Given the description of an element on the screen output the (x, y) to click on. 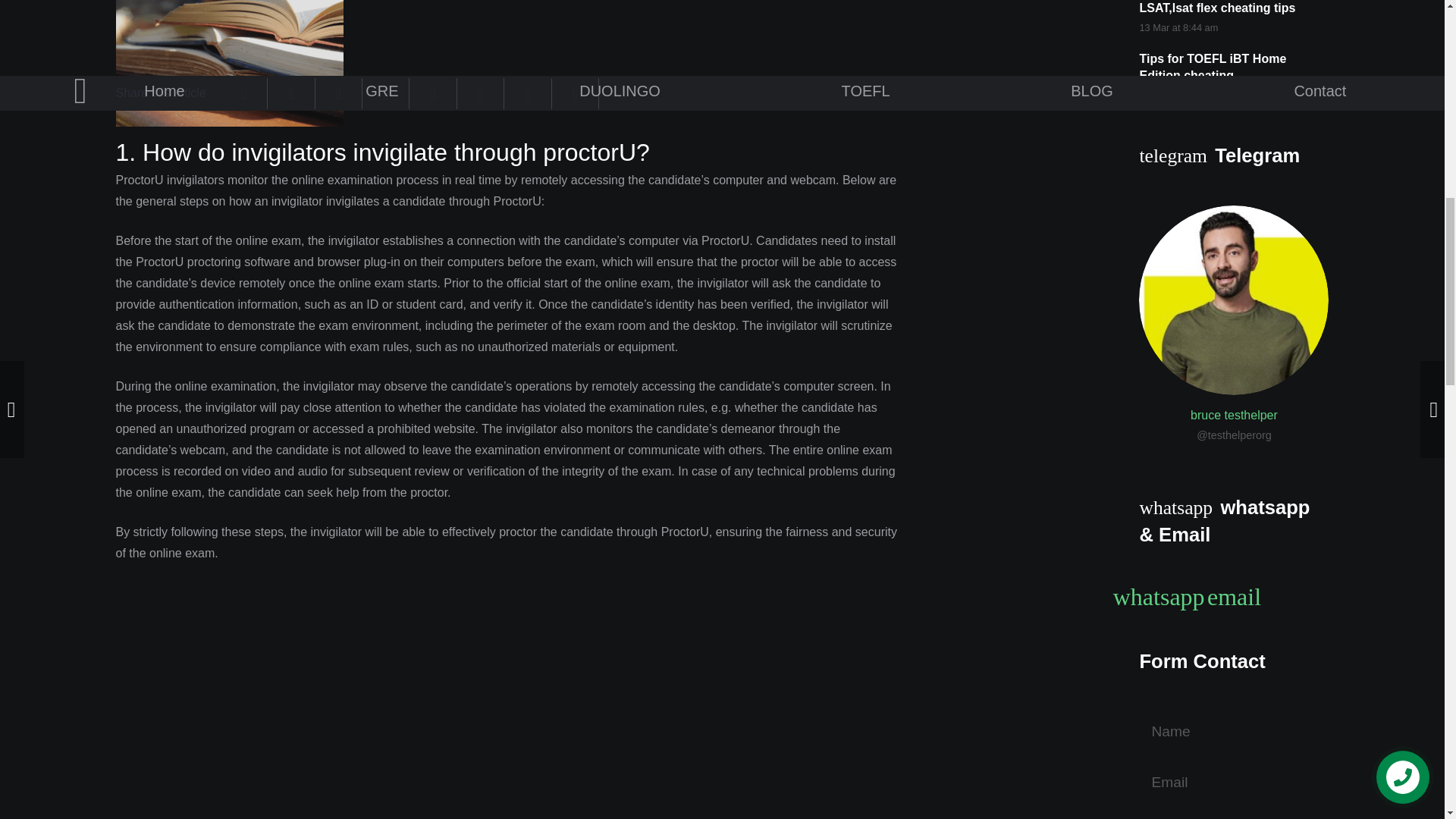
Best way for cheating on LSAT,lsat flex cheating tips (1216, 7)
email (1233, 597)
bruce testhelper (1232, 415)
whatsapp (1157, 597)
Tips for TOEFL iBT Home Edition cheating (1211, 66)
